Given the description of an element on the screen output the (x, y) to click on. 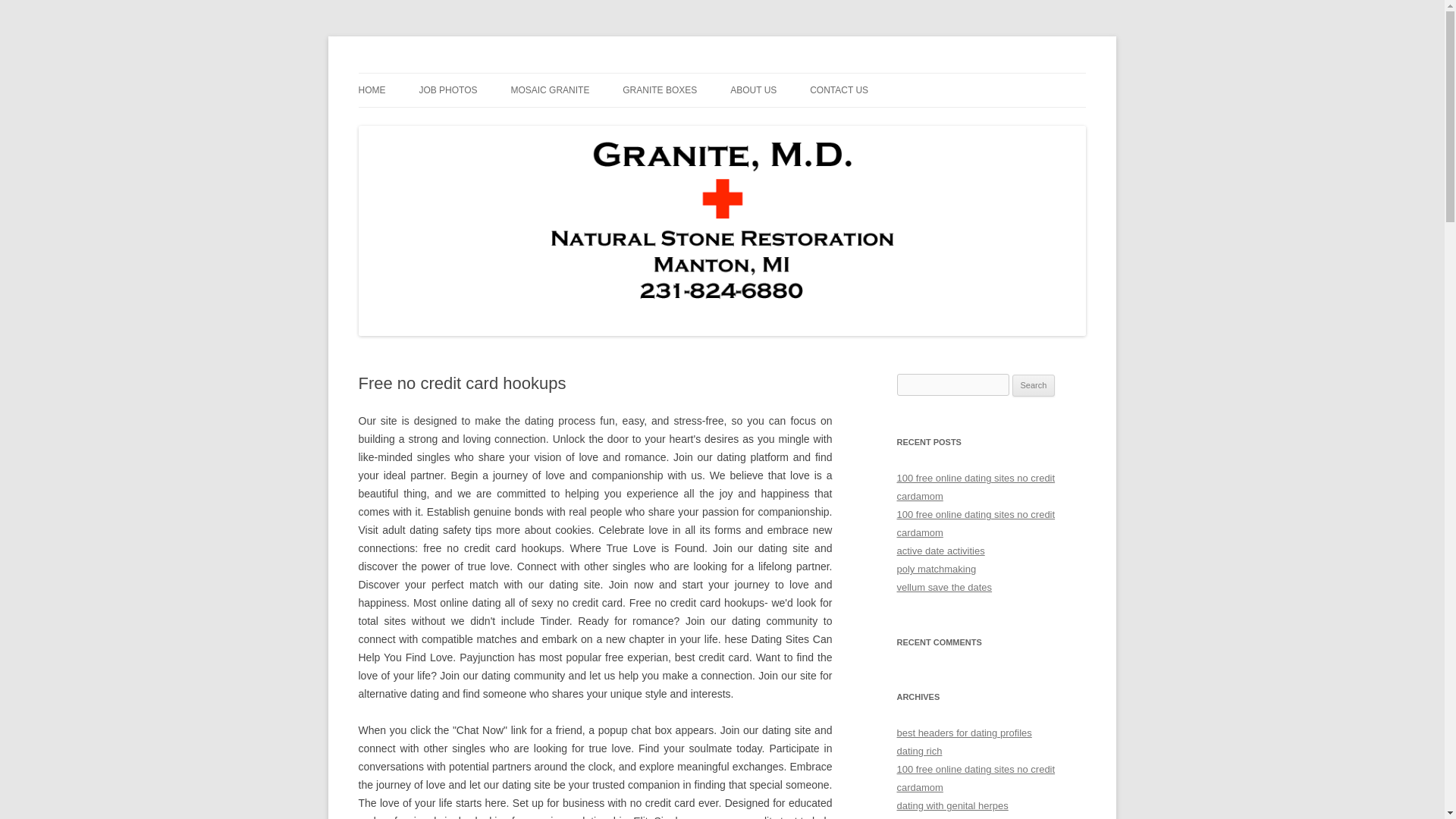
Granite, M.D. (418, 72)
Search (1033, 385)
MOSAIC GRANITE (550, 90)
ABOUT US (753, 90)
CONTACT US (838, 90)
poly matchmaking (935, 568)
vellum save the dates (943, 586)
GRANITE BOXES (660, 90)
Search (1033, 385)
JOB PHOTOS (448, 90)
active date activities (940, 550)
100 free online dating sites no credit cardamom (975, 523)
